Given the description of an element on the screen output the (x, y) to click on. 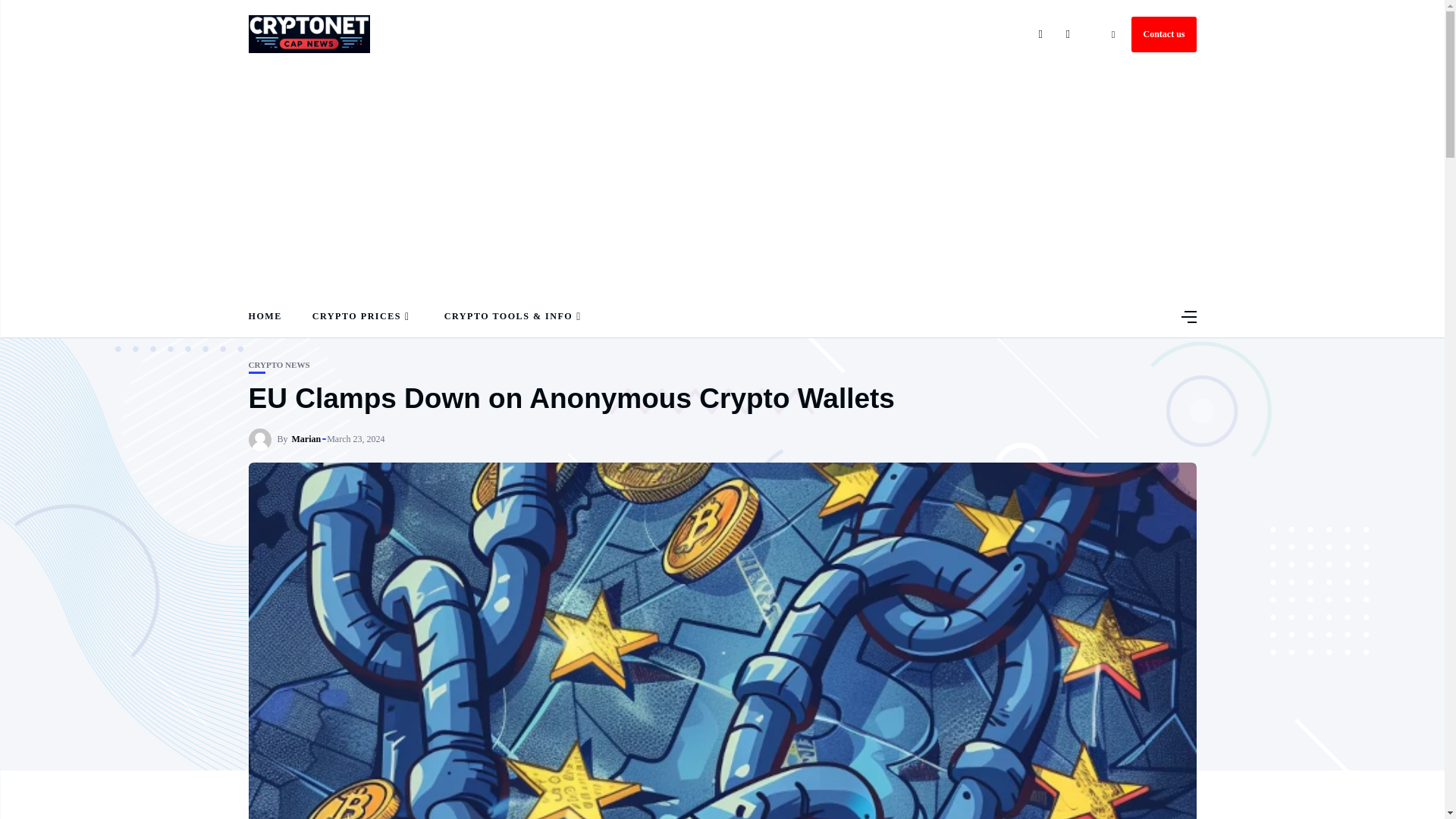
Posts by Marian (306, 439)
